Given the description of an element on the screen output the (x, y) to click on. 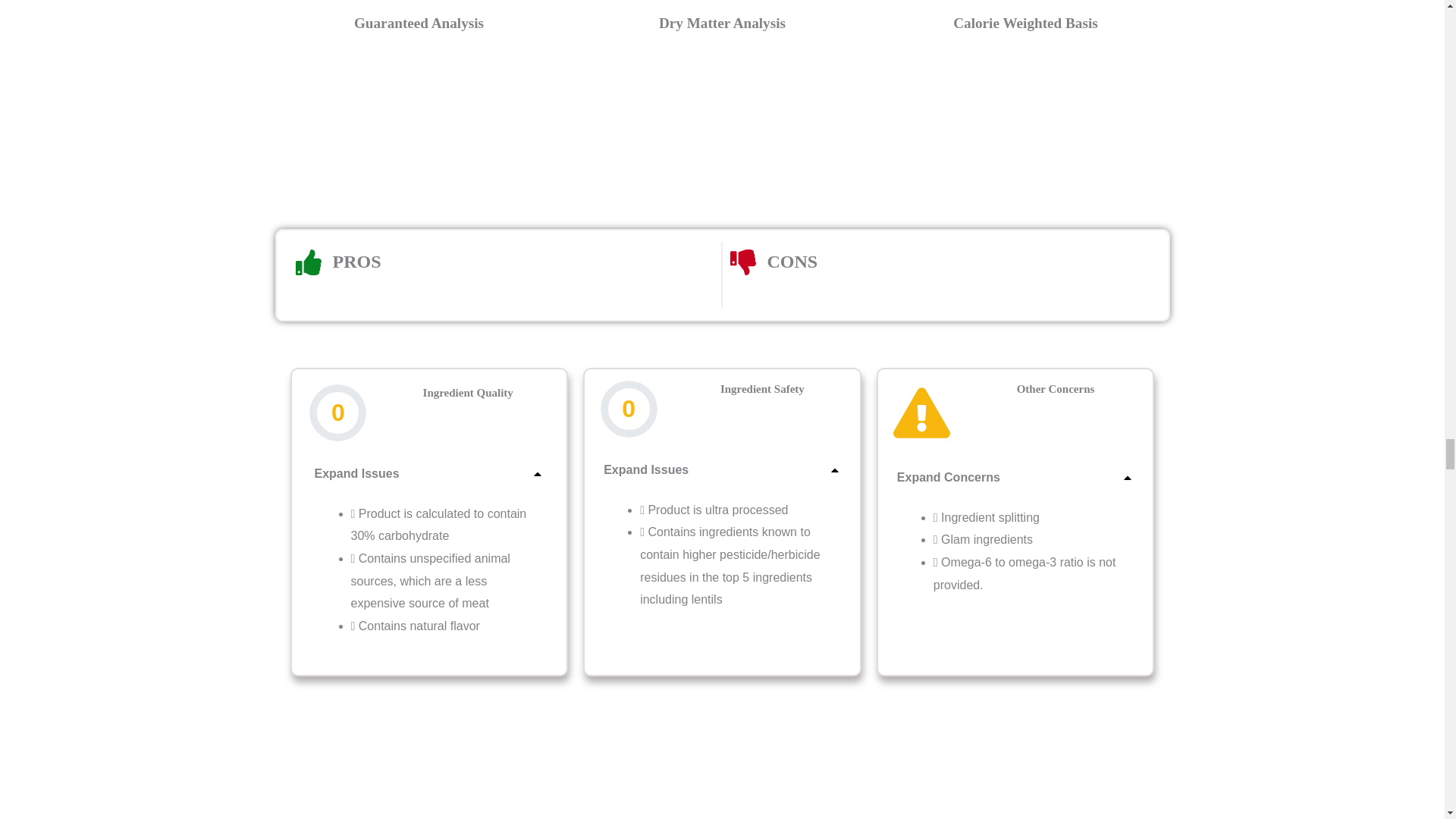
Advertisement (737, 772)
